Given the description of an element on the screen output the (x, y) to click on. 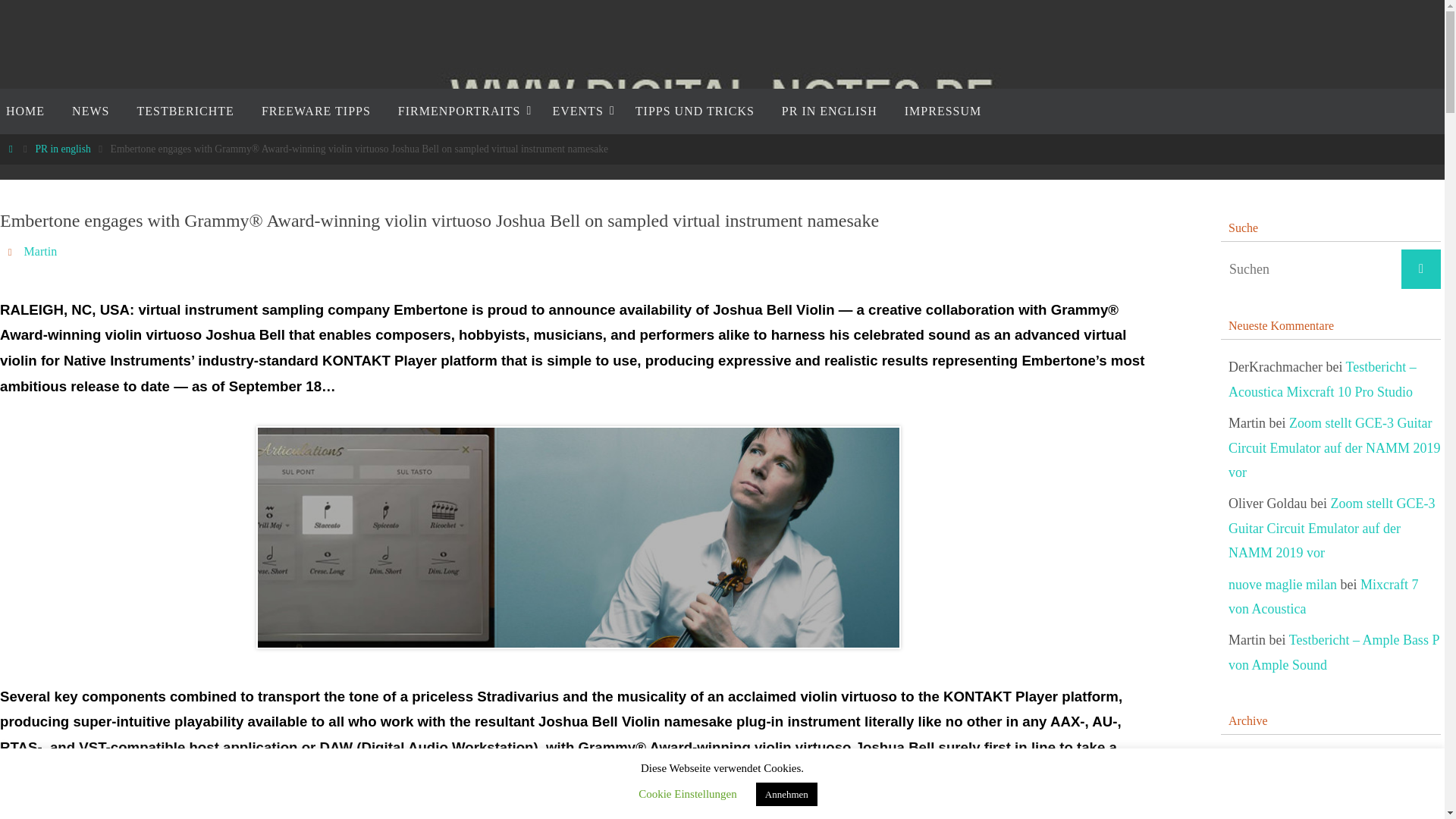
PR IN ENGLISH (829, 111)
Juli 2024 (1253, 762)
TIPPS UND TRICKS (694, 111)
Autor (11, 250)
nuove maglie milan (1282, 584)
EVENTS (579, 111)
Mixcraft 7 von Acoustica (1323, 597)
Mai 2024 (1254, 818)
Suchen (1420, 269)
PR in english (62, 148)
FIRMENPORTRAITS (461, 111)
